Given the description of an element on the screen output the (x, y) to click on. 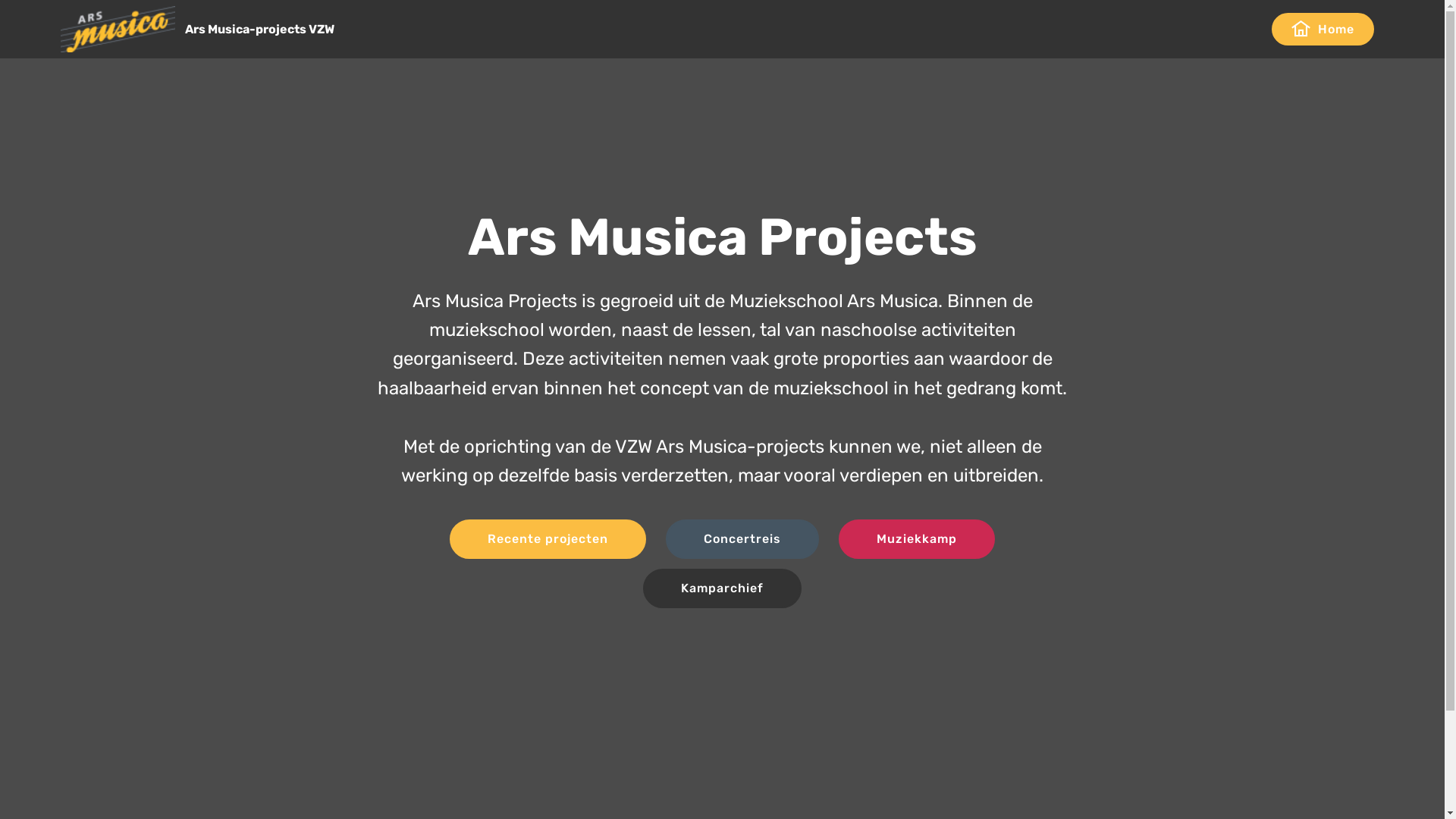
Concertreis Element type: text (742, 538)
Muziekkamp Element type: text (916, 538)
Kamparchief Element type: text (722, 588)
Ars Musica-projects VZW Element type: text (271, 28)
  Element type: text (1252, 28)
Home Element type: text (1322, 28)
Recente projecten Element type: text (547, 538)
